Given the description of an element on the screen output the (x, y) to click on. 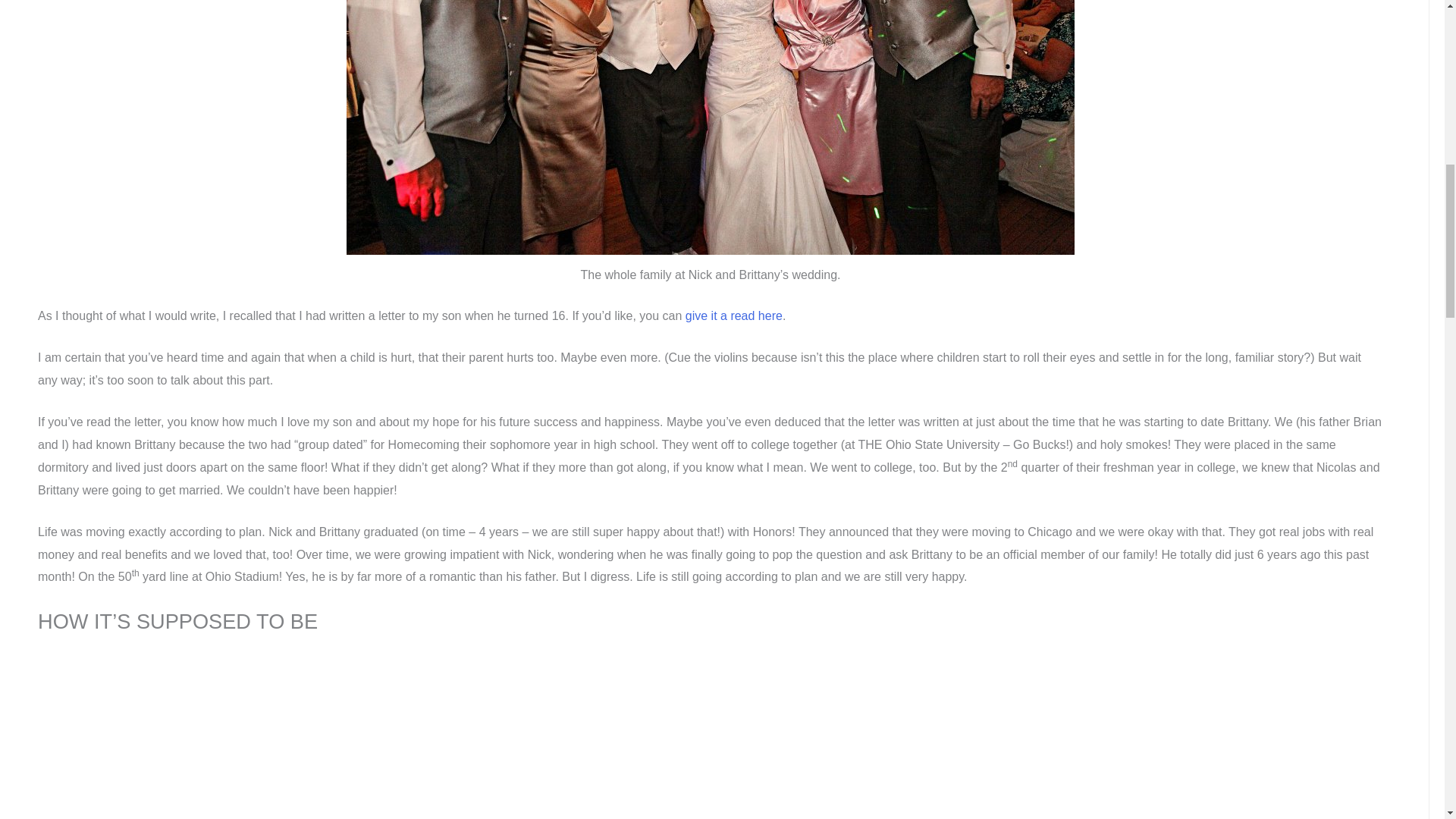
give it a read here (734, 315)
